Given the description of an element on the screen output the (x, y) to click on. 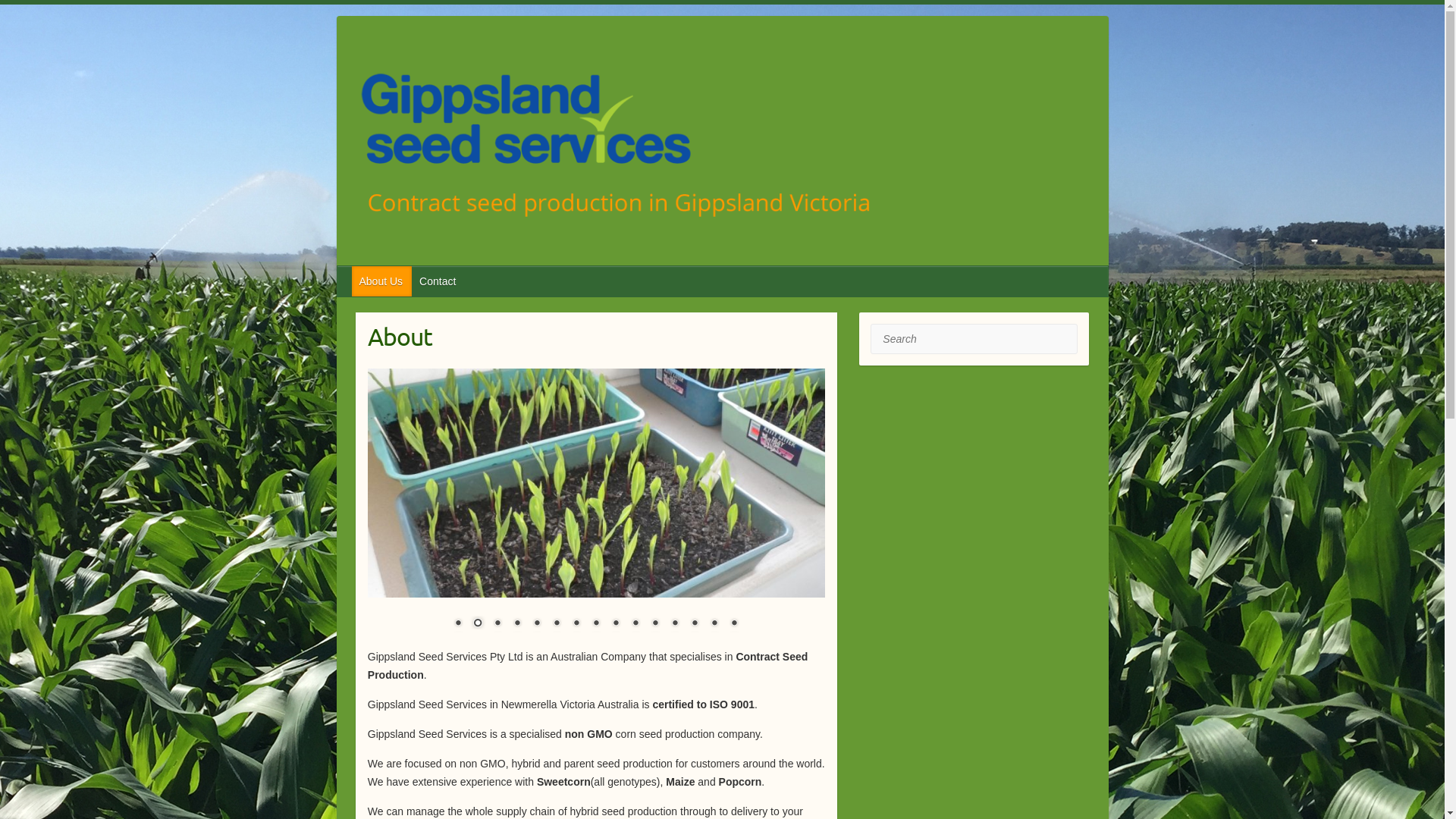
11 Element type: text (654, 623)
7 Element type: text (575, 623)
13 Element type: text (694, 623)
3 Element type: text (497, 623)
5 Element type: text (536, 623)
Contact Element type: text (437, 281)
12 Element type: text (674, 623)
9 Element type: text (615, 623)
8 Element type: text (595, 623)
4 Element type: text (516, 623)
15 Element type: text (733, 623)
About Us Element type: text (381, 281)
10 Element type: text (635, 623)
Gippsland Seed Services Element type: hover (722, 144)
6 Element type: text (556, 623)
2 Element type: text (477, 623)
1 Element type: text (457, 623)
14 Element type: text (714, 623)
